Given the description of an element on the screen output the (x, y) to click on. 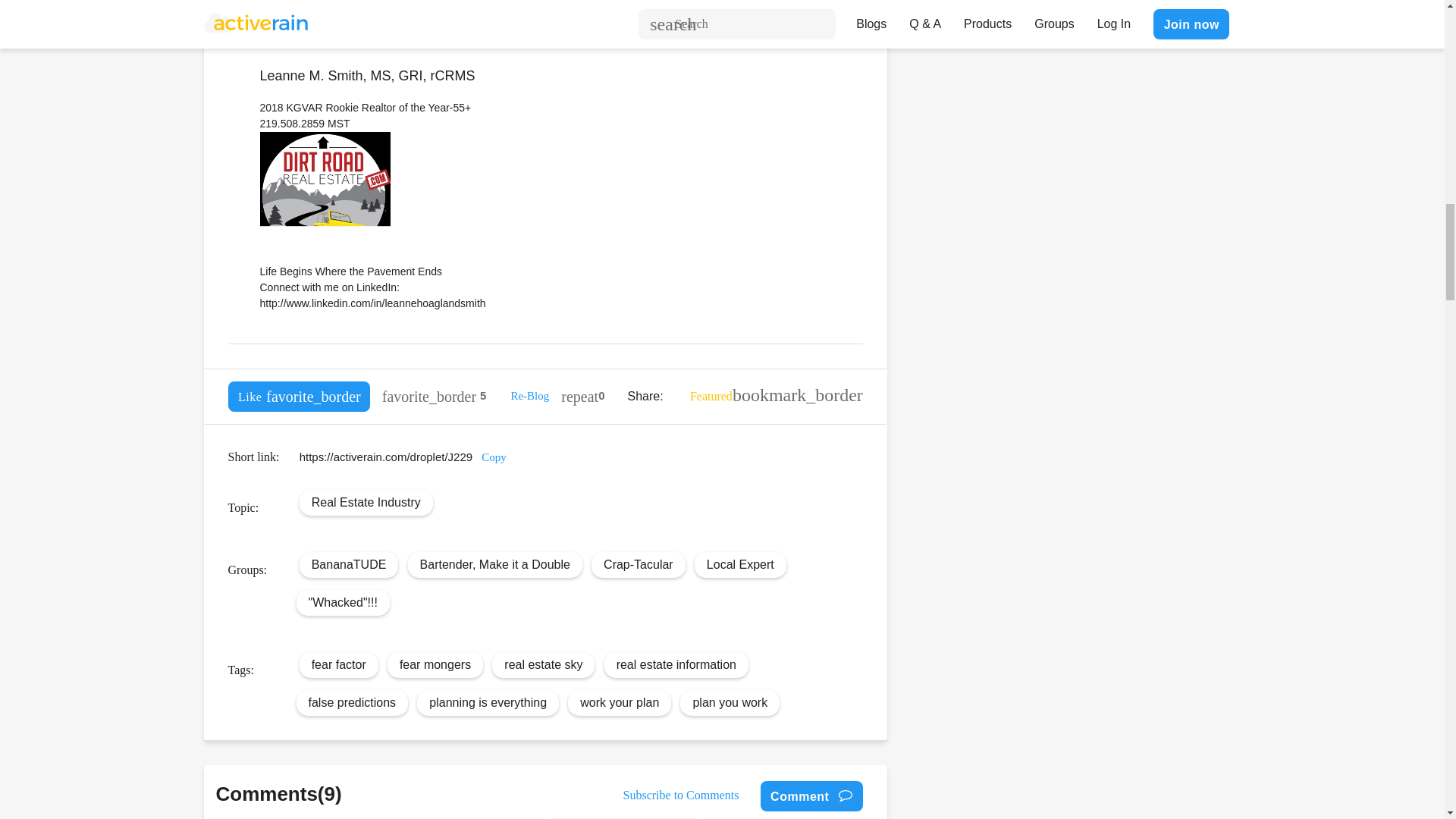
Copy (493, 456)
repeat 0 (582, 395)
This entry hasn't been re-blogged (582, 395)
Real Estate Industry (365, 502)
Bartender, Make it a Double (495, 563)
Local Expert (740, 563)
Crap-Tacular (638, 563)
BananaTUDE (349, 563)
Re-Blog (529, 395)
